Given the description of an element on the screen output the (x, y) to click on. 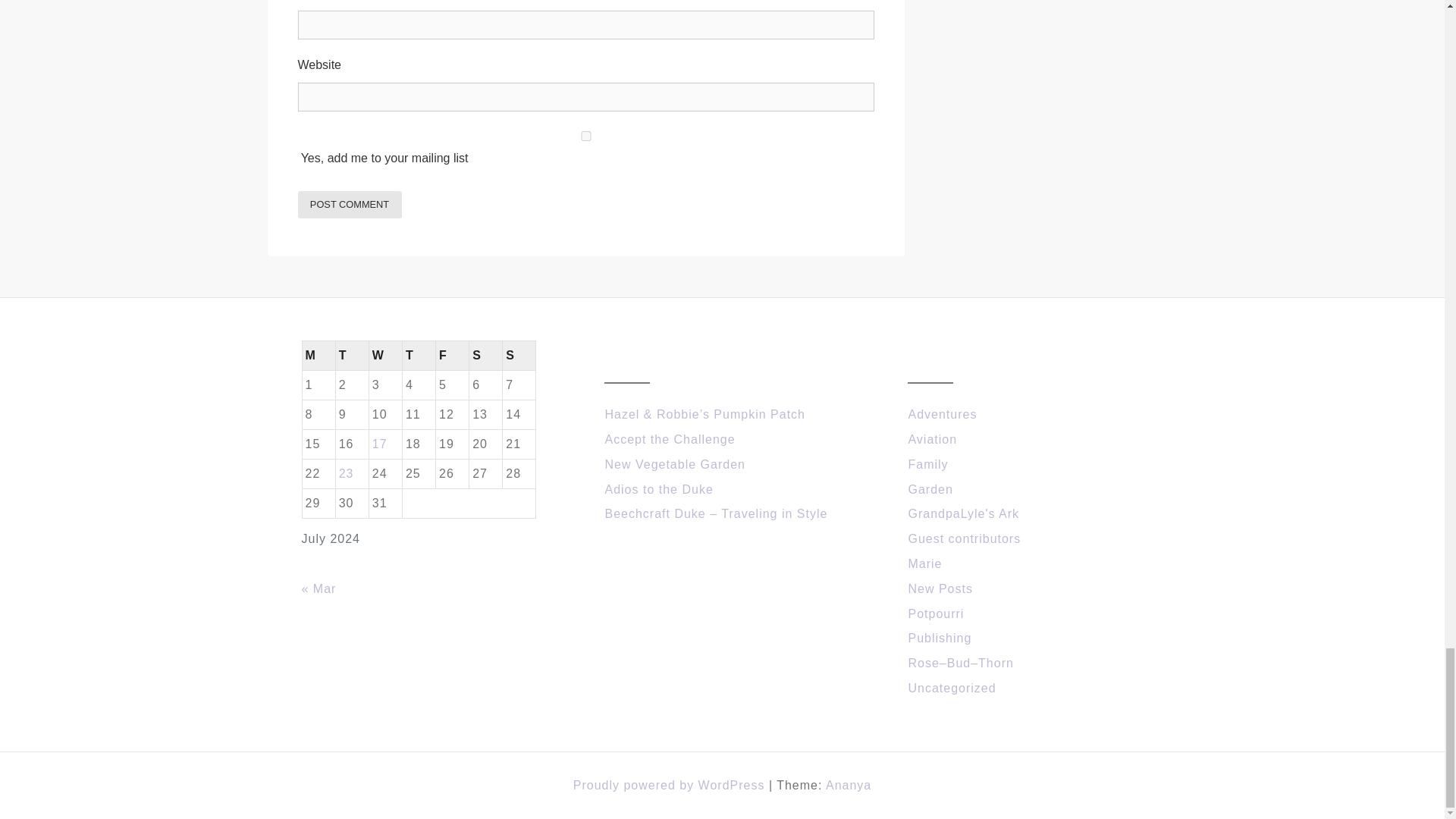
1 (585, 135)
Saturday (485, 355)
Post Comment (349, 203)
Monday (317, 355)
Thursday (418, 355)
Friday (451, 355)
Wednesday (384, 355)
Post Comment (349, 203)
Tuesday (351, 355)
Sunday (518, 355)
